Given the description of an element on the screen output the (x, y) to click on. 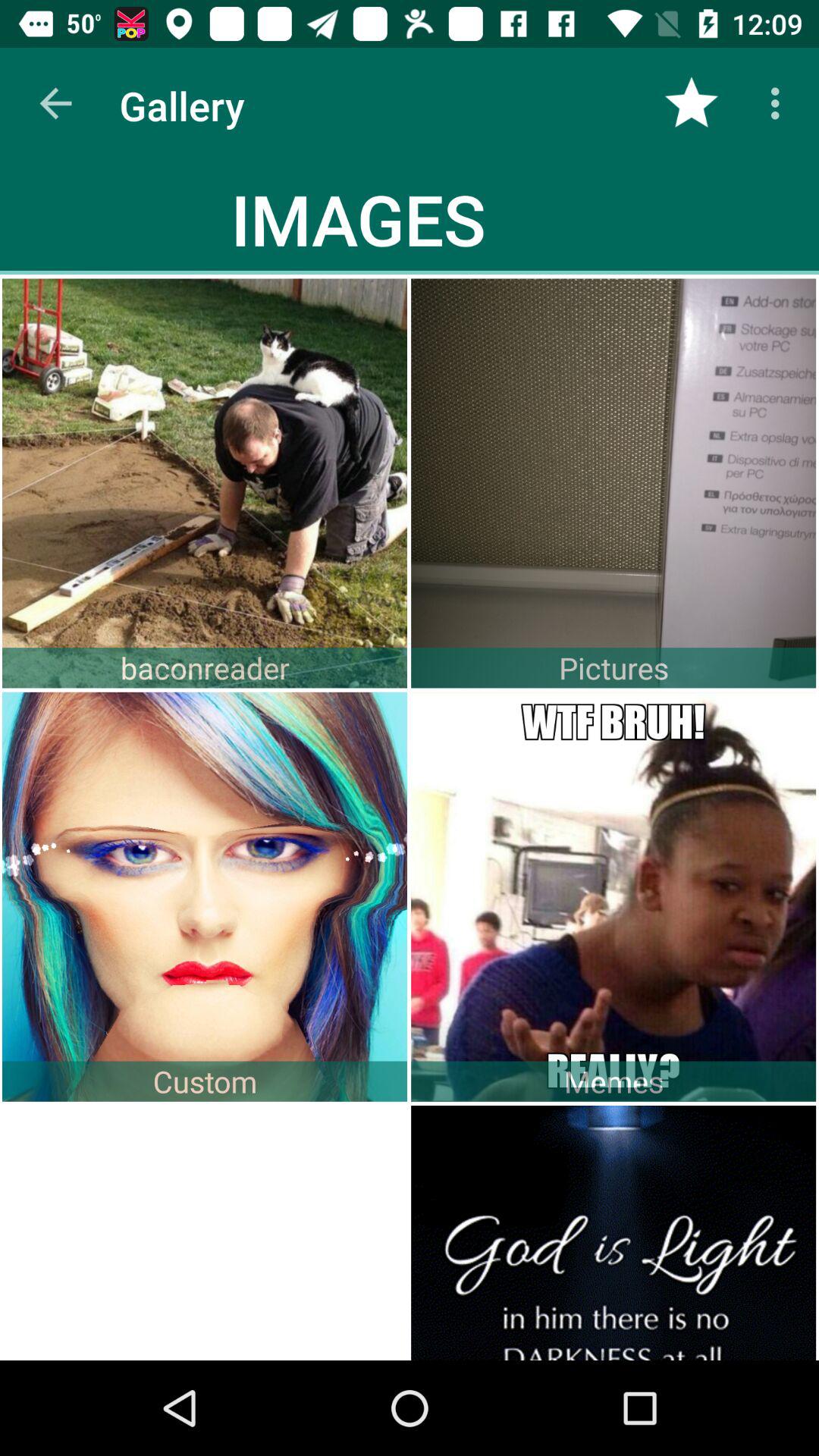
tap icon next to the images       icon (691, 103)
